Given the description of an element on the screen output the (x, y) to click on. 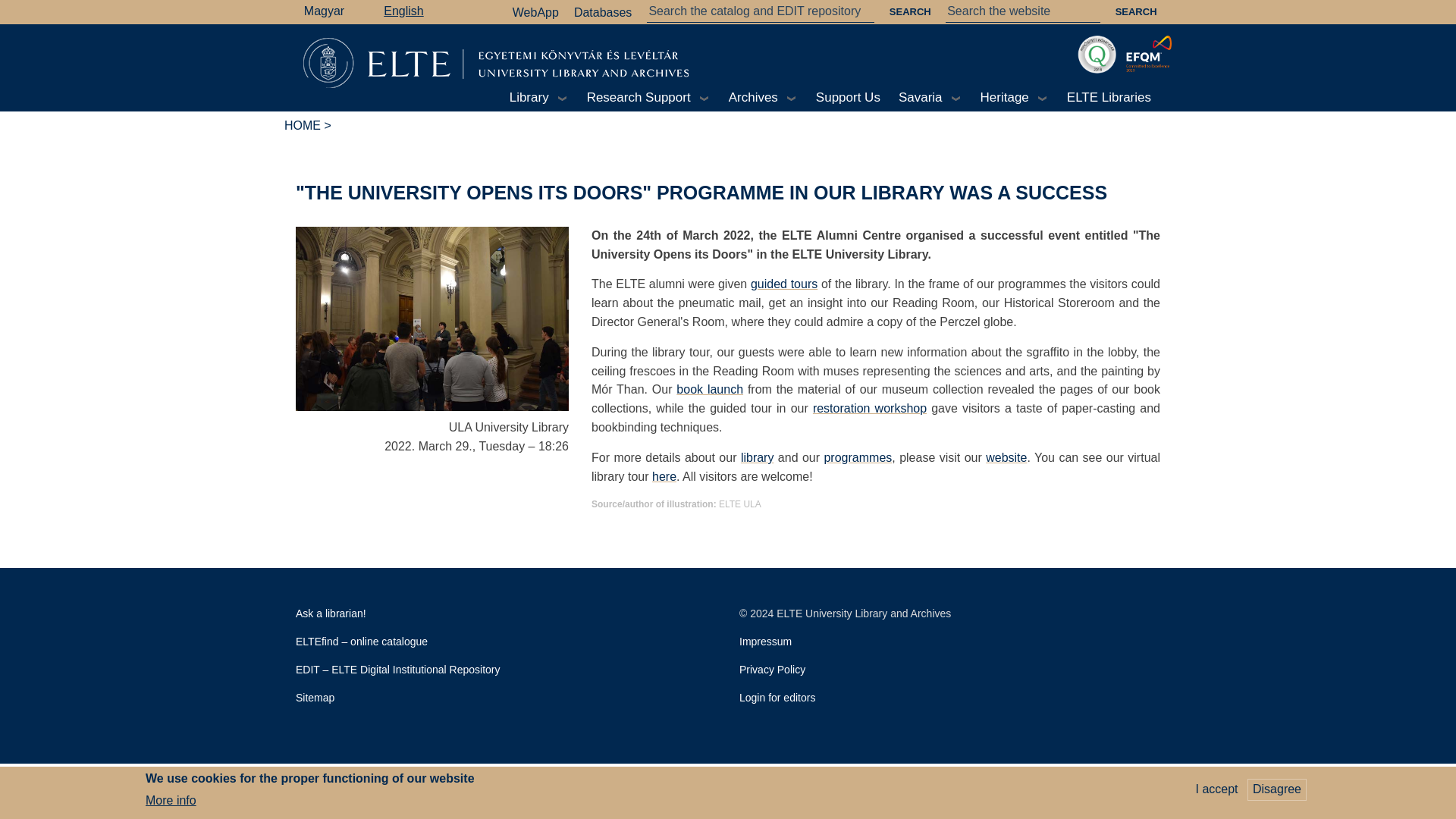
Library (539, 97)
Search (909, 11)
Search (909, 11)
Databases (606, 11)
CERTIFICATE OF QUALIFIED LIBRARY 2018 (1097, 54)
Research Support (648, 97)
Magyar (323, 11)
Archives (762, 97)
WebApp (539, 11)
English (404, 11)
Search (1136, 11)
Search (1136, 11)
